Given the description of an element on the screen output the (x, y) to click on. 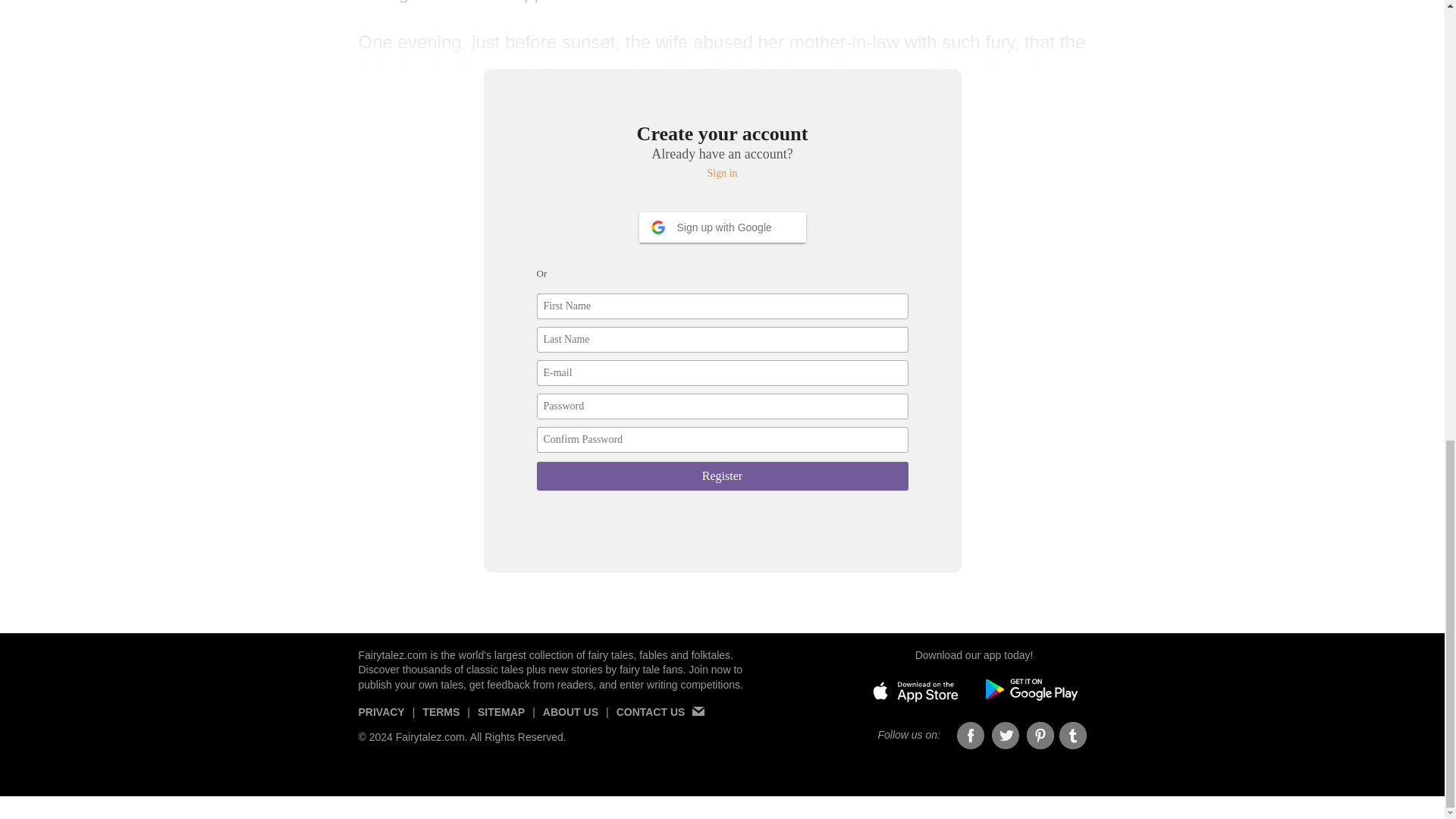
Fairytalez.com (392, 654)
Sign up with Google (722, 227)
Follow us on Pinterest (1041, 735)
Register (722, 475)
Sign in (722, 173)
TERMS (441, 717)
Sitemap (500, 717)
Follow us on Twitter (1006, 735)
Privacy (381, 717)
PRIVACY (381, 717)
Follow us on  Facebook (971, 735)
